Given the description of an element on the screen output the (x, y) to click on. 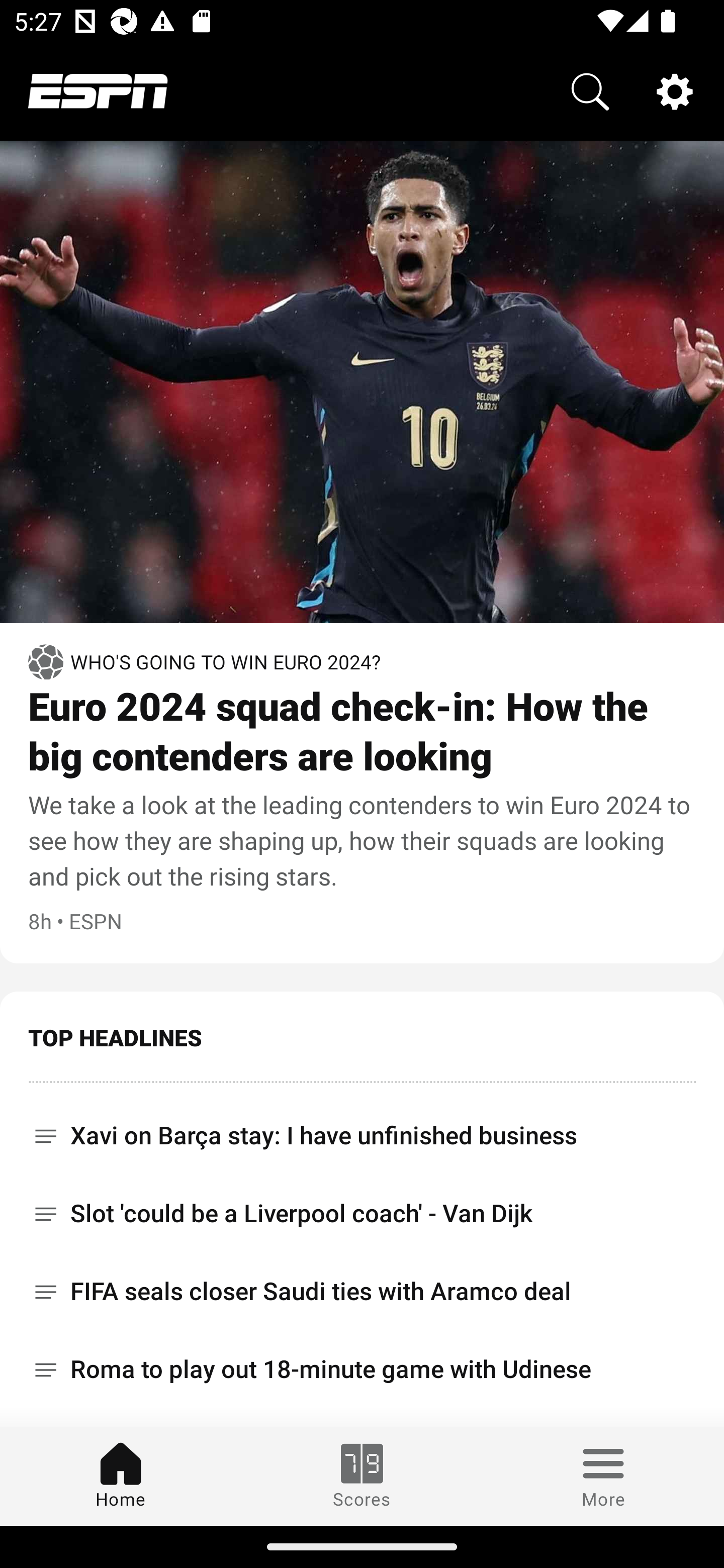
Search (590, 90)
Settings (674, 90)
 Xavi on Barça stay: I have unfinished business (362, 1128)
 Slot 'could be a Liverpool coach' - Van Dijk (362, 1213)
 FIFA seals closer Saudi ties with Aramco deal (362, 1291)
 Roma to play out 18-minute game with Udinese (362, 1369)
Scores (361, 1475)
More (603, 1475)
